Given the description of an element on the screen output the (x, y) to click on. 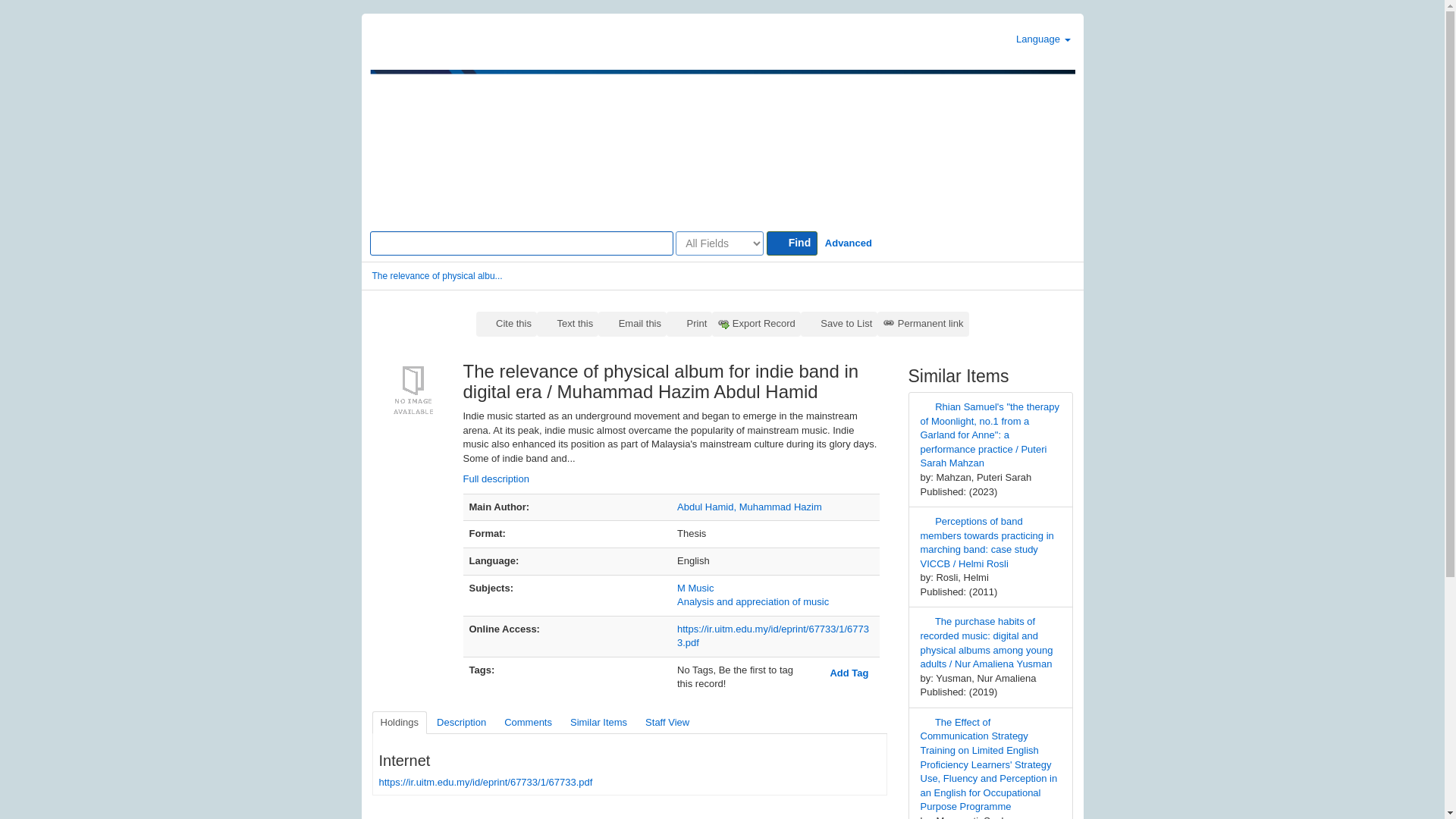
Skip to content (32, 20)
Save to List (838, 324)
M Music (695, 587)
Export Record (755, 324)
Staff View (667, 722)
M Music (695, 587)
Add Tag (841, 673)
Comments (528, 722)
Find (791, 242)
